Given the description of an element on the screen output the (x, y) to click on. 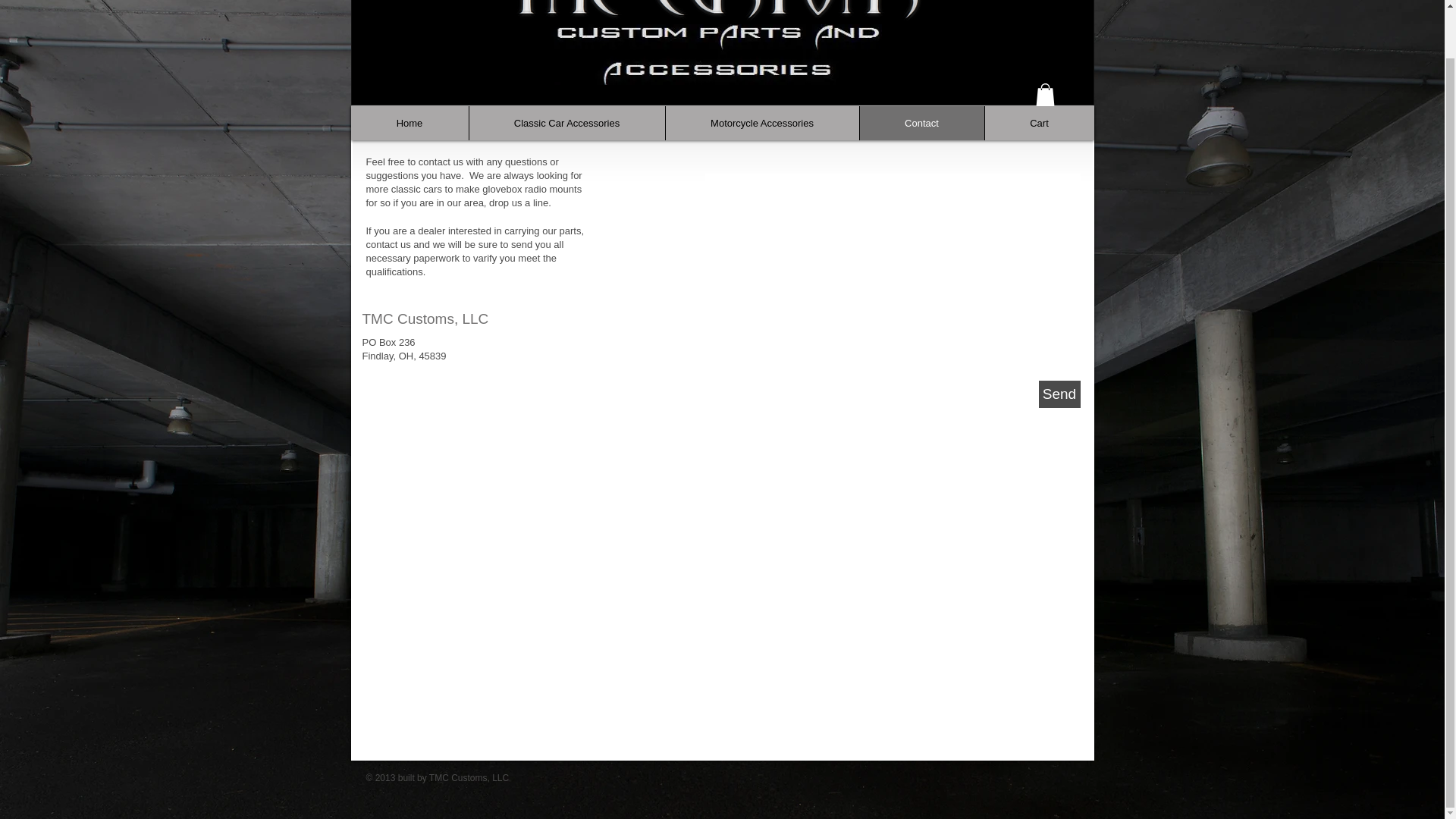
Cart (1039, 123)
Motorcycle Accessories (761, 123)
Contact (921, 123)
Send (1059, 393)
Home (408, 123)
Classic Car Accessories (566, 123)
